Given the description of an element on the screen output the (x, y) to click on. 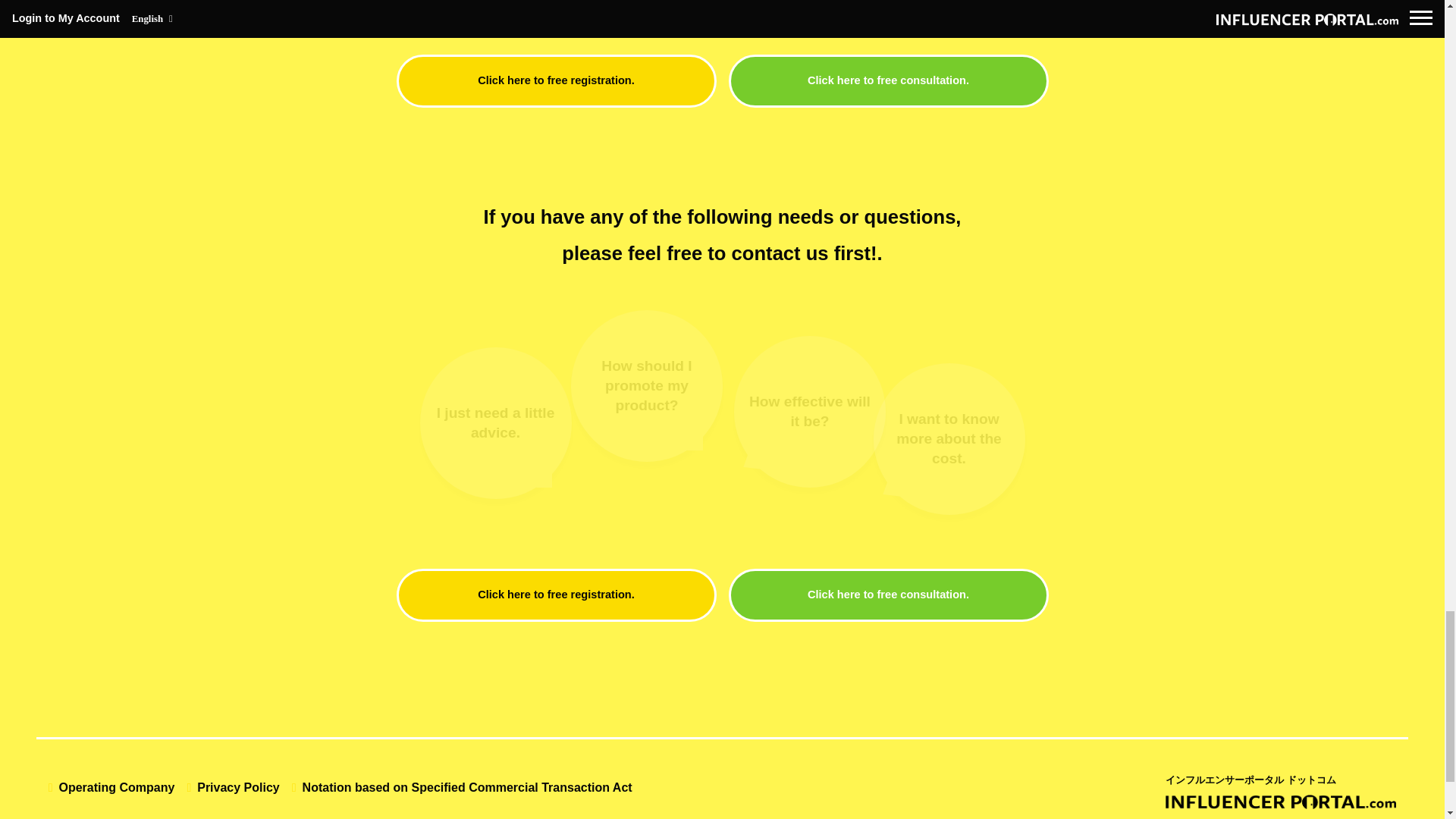
Operating Company (111, 787)
Click here to free consultation. (888, 594)
Notation based on Specified Commercial Transaction Act (461, 787)
Click here to free registration. (556, 80)
Click here to free registration. (556, 594)
Privacy Policy (232, 787)
Click here to free consultation. (888, 80)
